Given the description of an element on the screen output the (x, y) to click on. 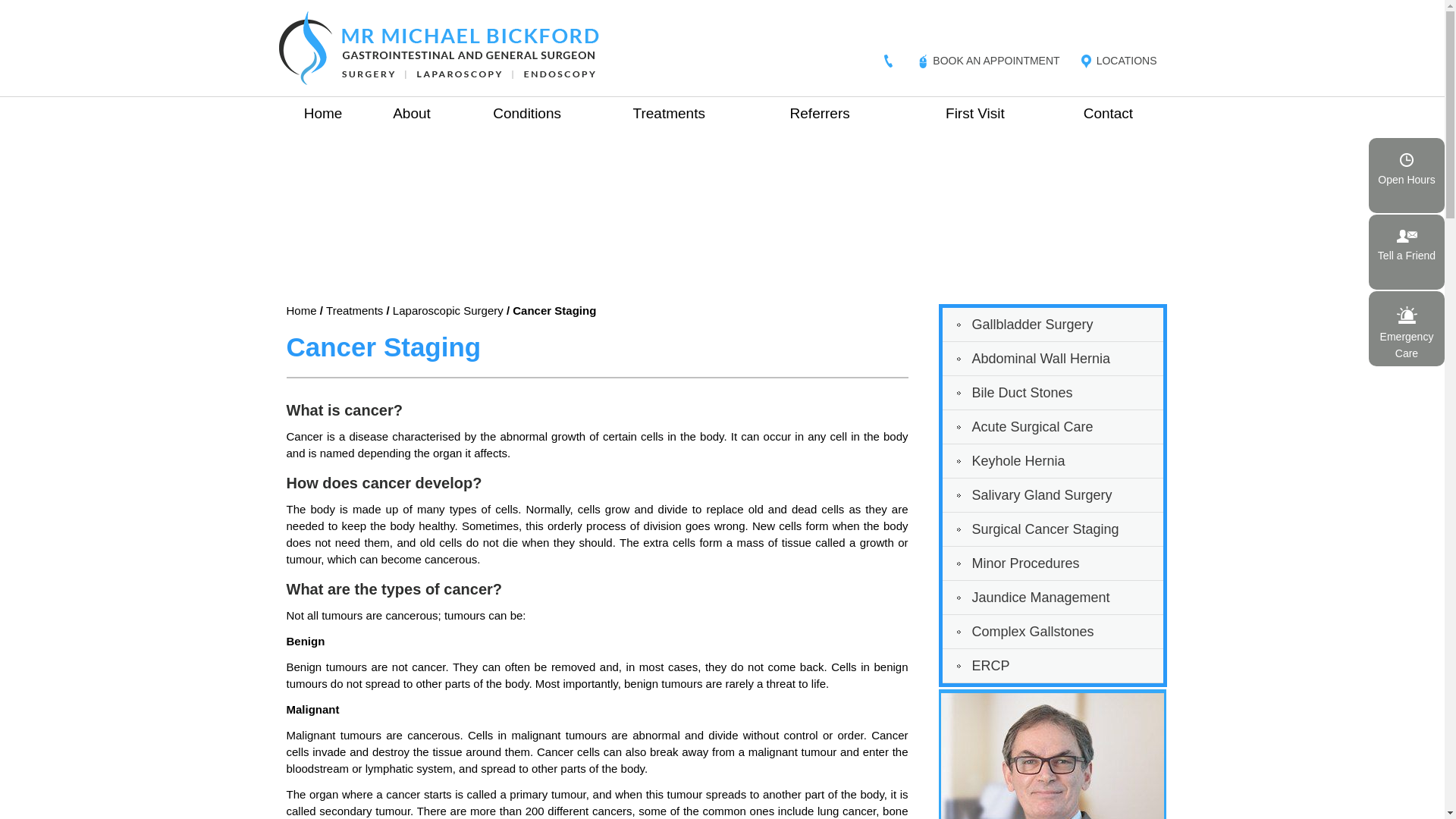
About (410, 114)
BOOK AN APPOINTMENT (996, 60)
Home (323, 114)
Conditions (527, 114)
LOCATIONS (1126, 60)
